Given the description of an element on the screen output the (x, y) to click on. 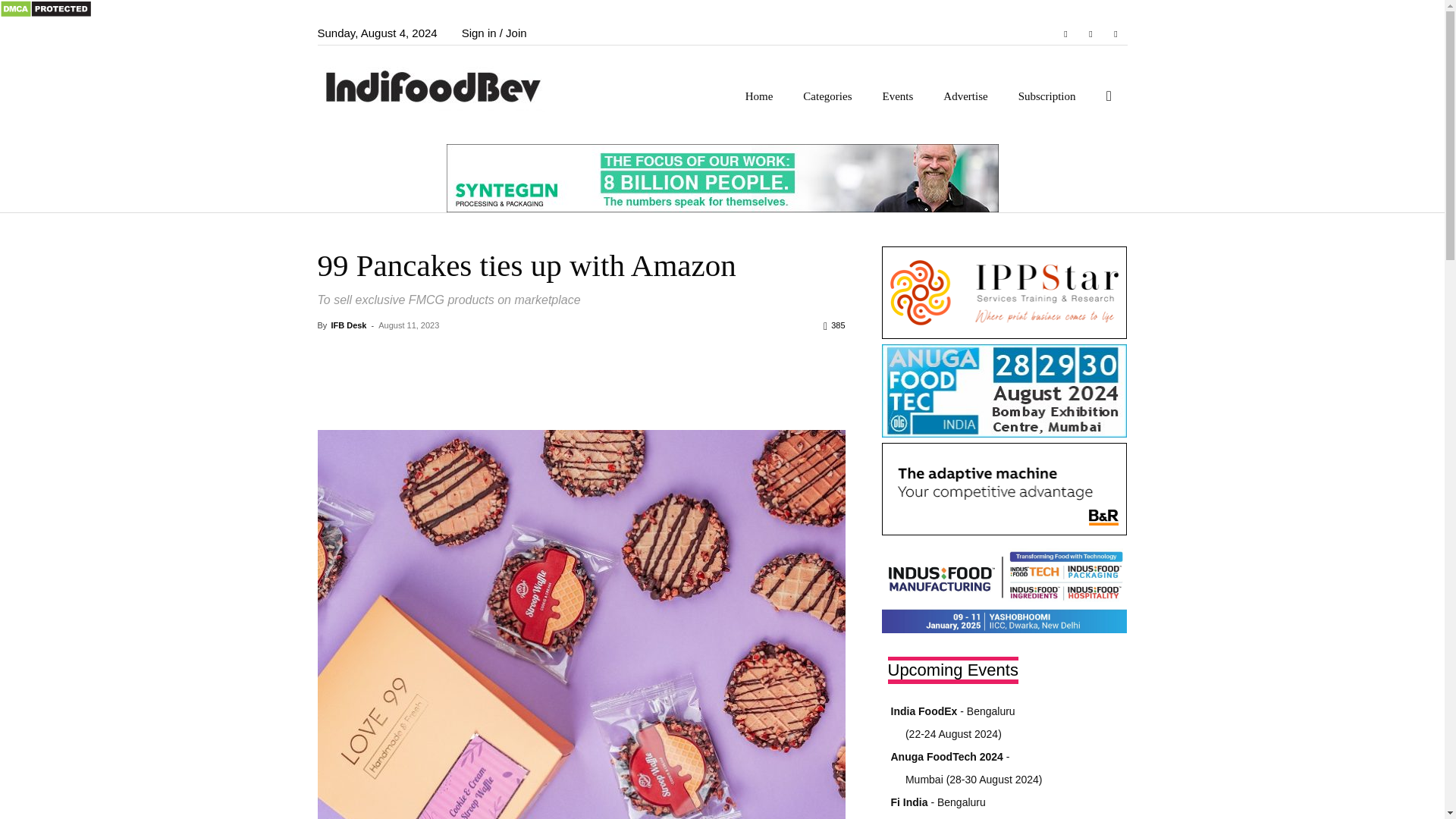
DMCA.com Protection Status (45, 14)
topFacebookLike (430, 352)
IndiFoodBev (438, 85)
Twitter (1114, 33)
Linkedin (1090, 33)
Facebook (1065, 33)
